Given the description of an element on the screen output the (x, y) to click on. 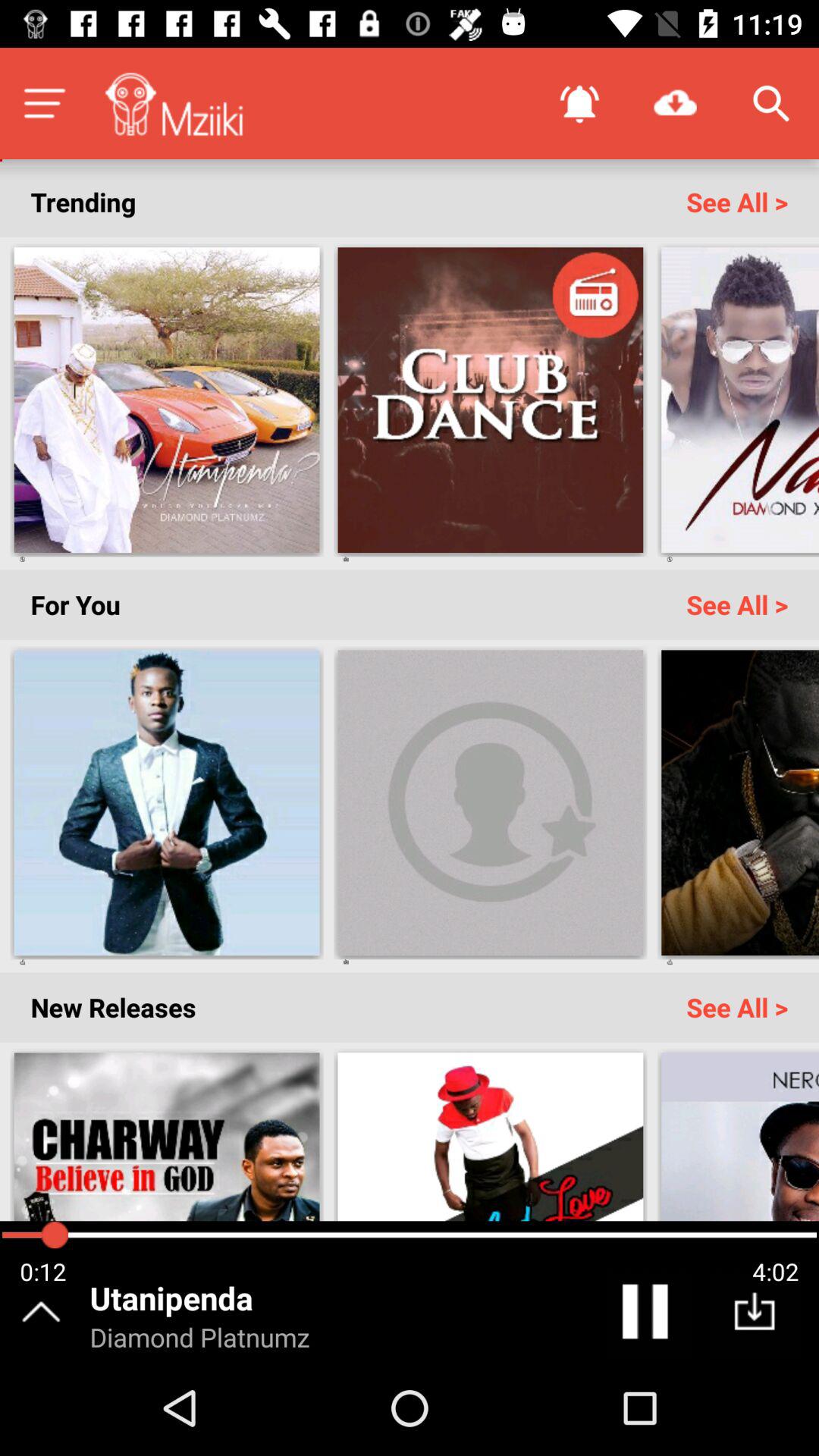
pause currently playing (647, 1315)
